Given the description of an element on the screen output the (x, y) to click on. 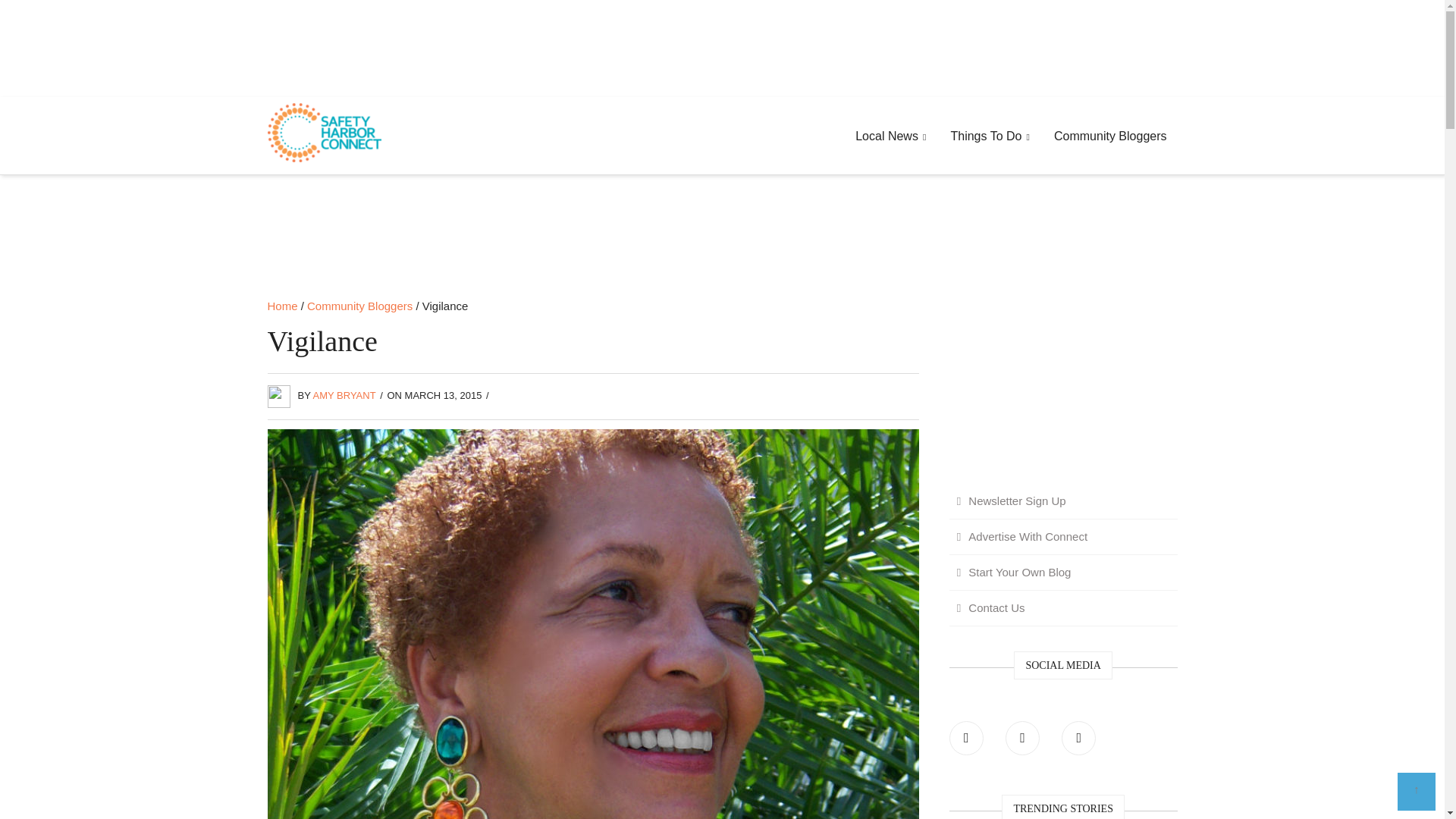
Home (281, 305)
Things To Do (989, 136)
Facebook (966, 738)
Community Bloggers (359, 305)
AMY BRYANT (344, 395)
Posts by Amy Bryant (344, 395)
Twitter (1022, 738)
Community Bloggers (1110, 136)
instagram (1078, 738)
